Given the description of an element on the screen output the (x, y) to click on. 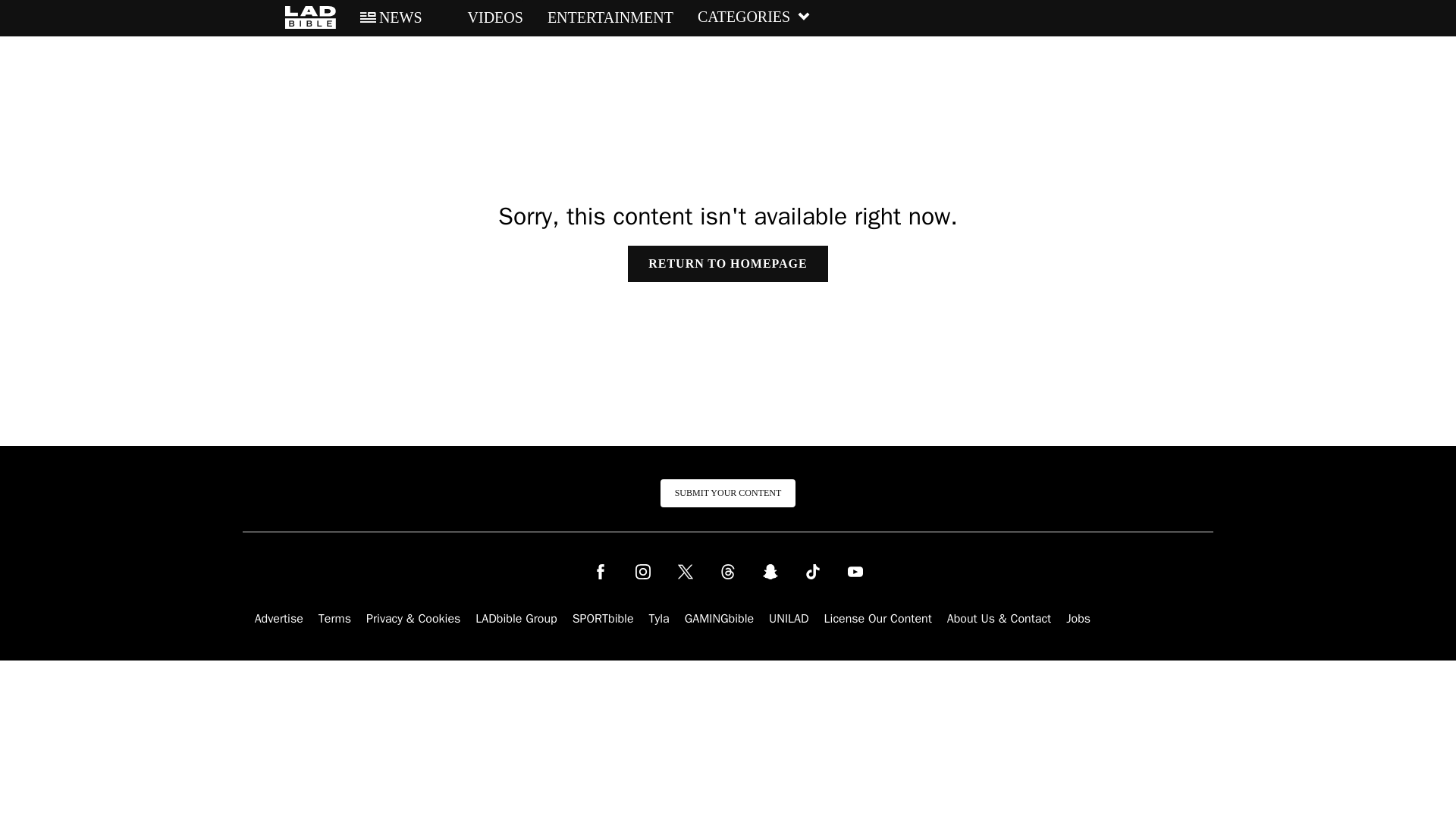
Advertise (278, 618)
CATEGORIES (753, 17)
NEWS (390, 17)
RETURN TO HOMEPAGE (727, 263)
ENTERTAINMENT (609, 17)
VIDEOS (484, 17)
